Given the description of an element on the screen output the (x, y) to click on. 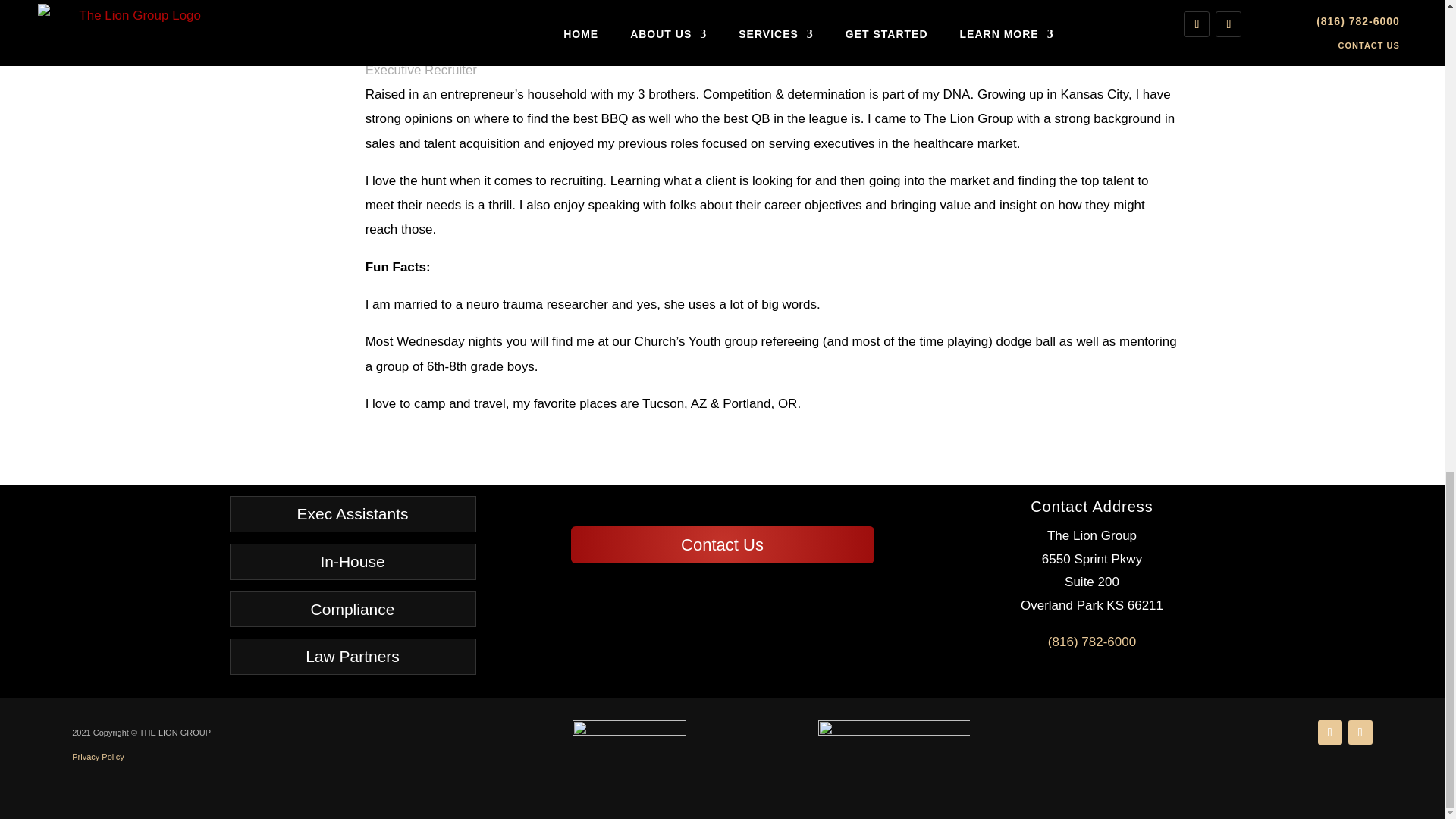
Follow on LinkedIn (1329, 732)
Contact Us (721, 544)
Compliance (352, 609)
Privacy Policy (97, 756)
Follow on Facebook (1360, 732)
SRA-Mark-600-Transparent-300x148white (893, 753)
In-House (352, 561)
Exec Assistants (352, 514)
Law Partners (352, 656)
